Given the description of an element on the screen output the (x, y) to click on. 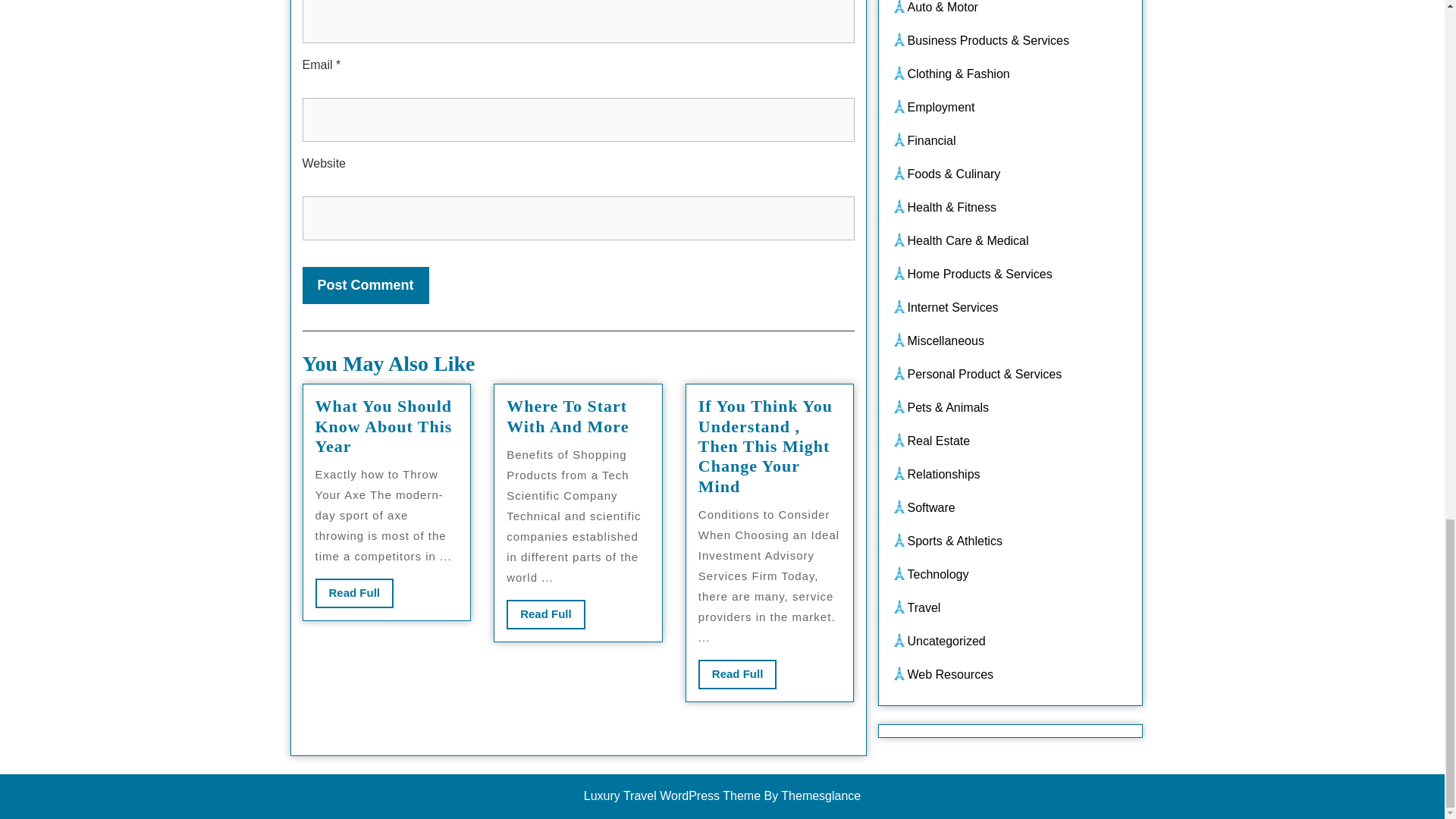
Post Comment (364, 284)
Post Comment (545, 614)
